Given the description of an element on the screen output the (x, y) to click on. 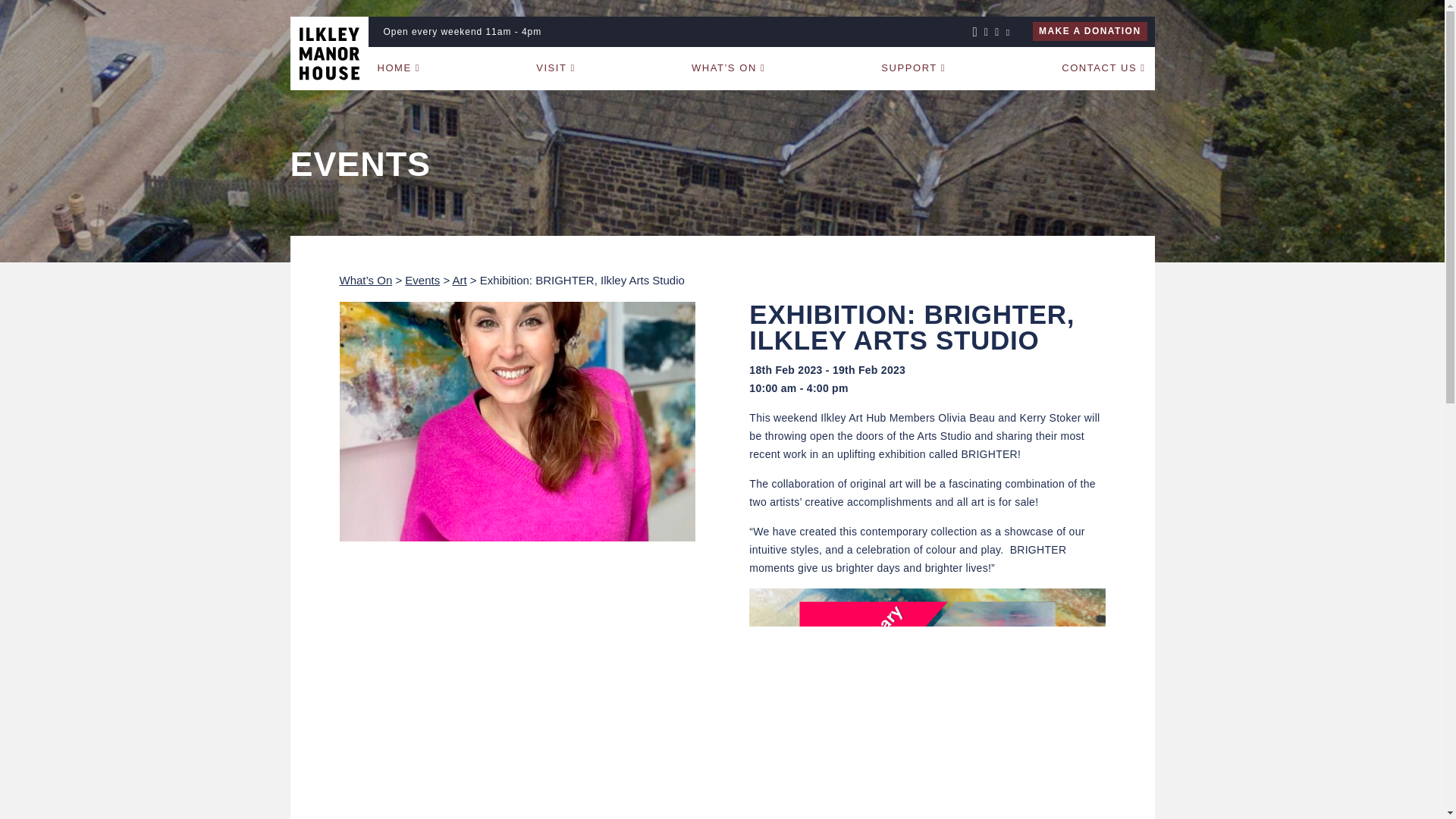
HOME (398, 67)
Ilkley Manor House (328, 53)
Go to the Art Event Category archives. (458, 279)
VISIT (556, 67)
Events (421, 279)
SUPPORT (913, 67)
MAKE A DONATION (1089, 31)
Art (458, 279)
CONTACT US (1103, 67)
